Given the description of an element on the screen output the (x, y) to click on. 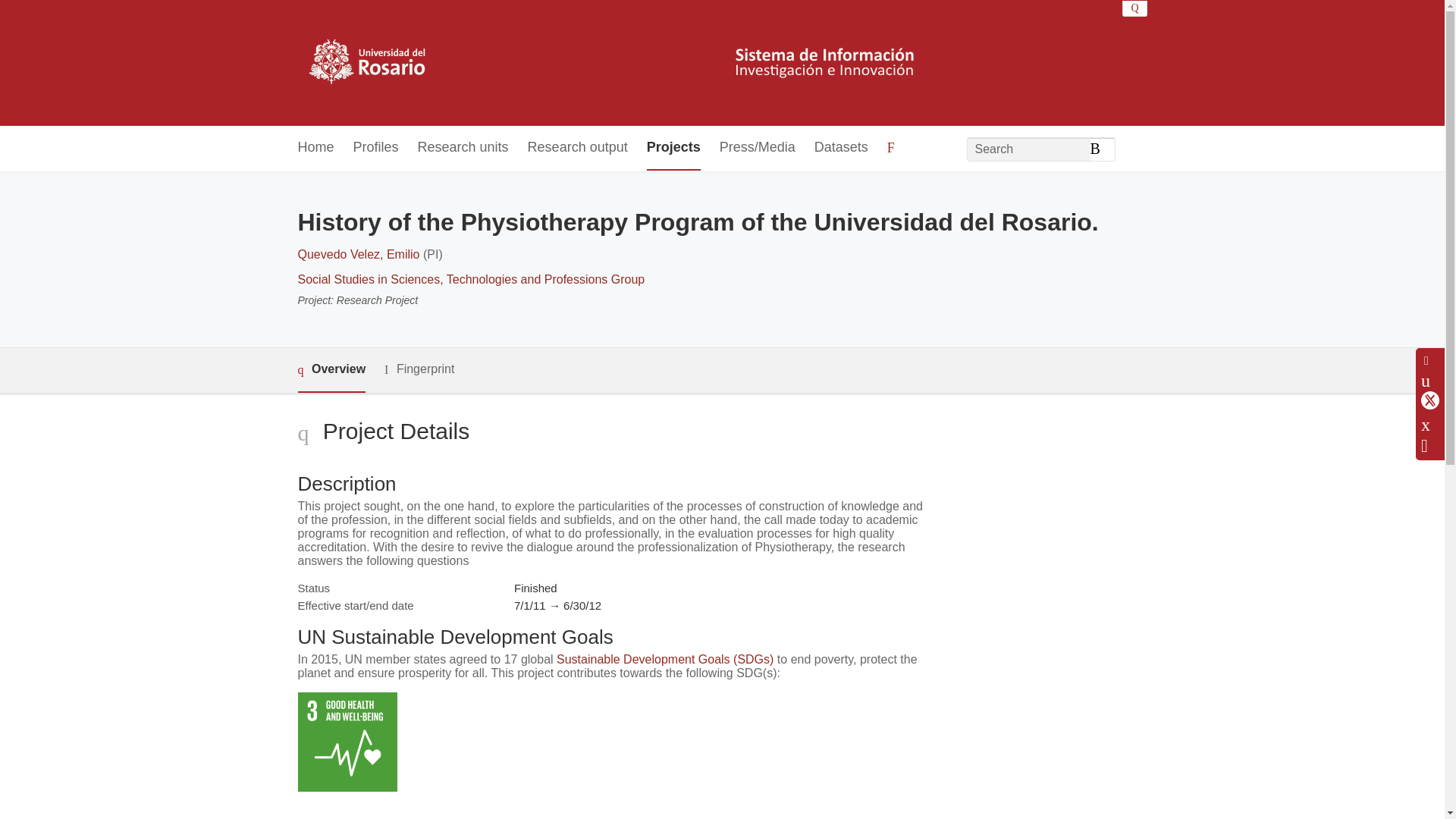
Profiles (375, 148)
SDG 3 - Good Health and Well-being (346, 741)
Datasets (840, 148)
Home (315, 148)
Research units (462, 148)
Research output (577, 148)
Universidad del Rosario Home (615, 62)
Fingerprint (419, 369)
Projects (673, 148)
Overview (331, 370)
Quevedo Velez, Emilio (358, 254)
